Given the description of an element on the screen output the (x, y) to click on. 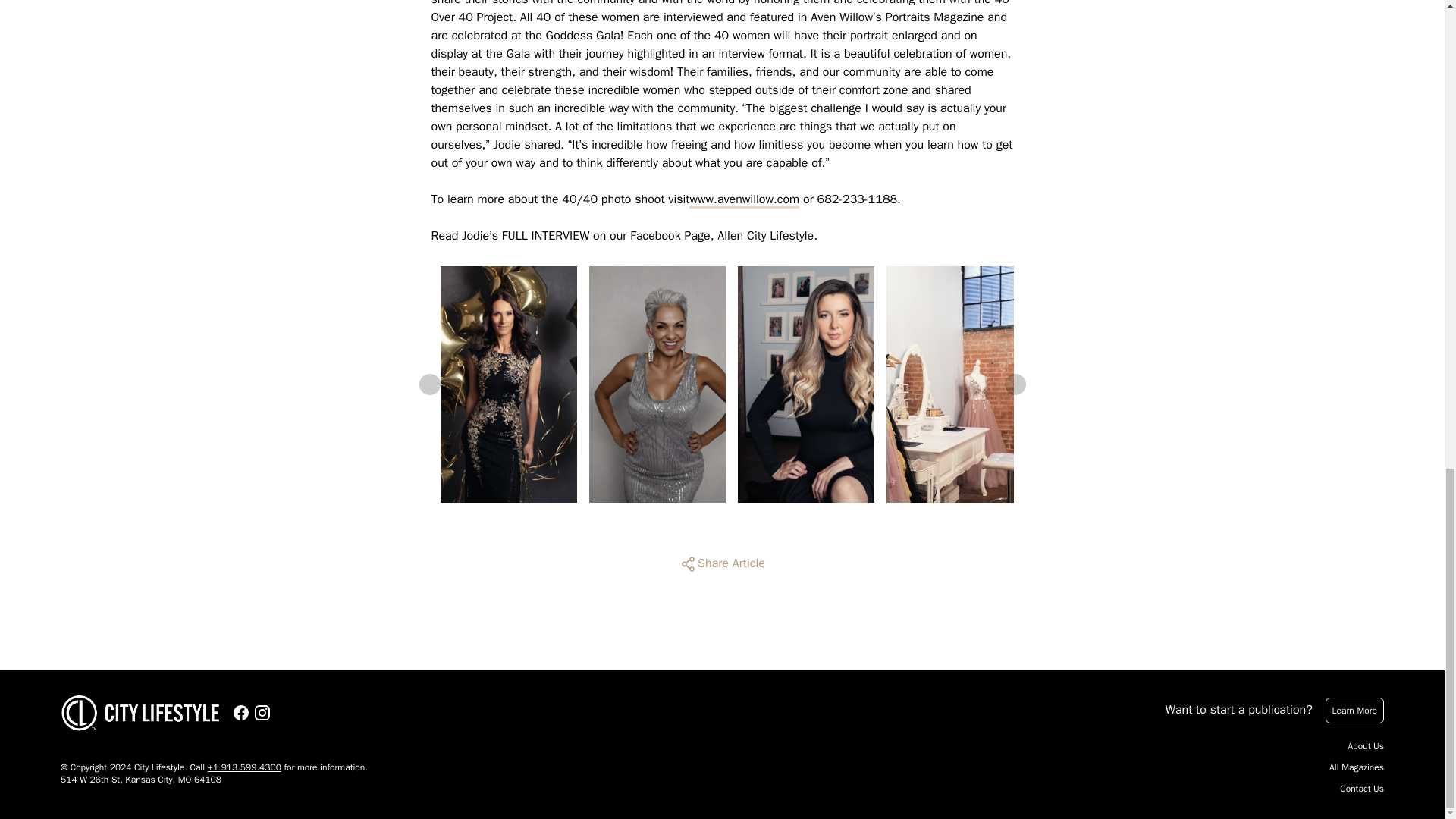
www.avenwillow.com (743, 199)
All Magazines (1356, 767)
Contact Us (1361, 788)
Learn More (1354, 710)
About Us (1366, 746)
Share Article (722, 563)
